Given the description of an element on the screen output the (x, y) to click on. 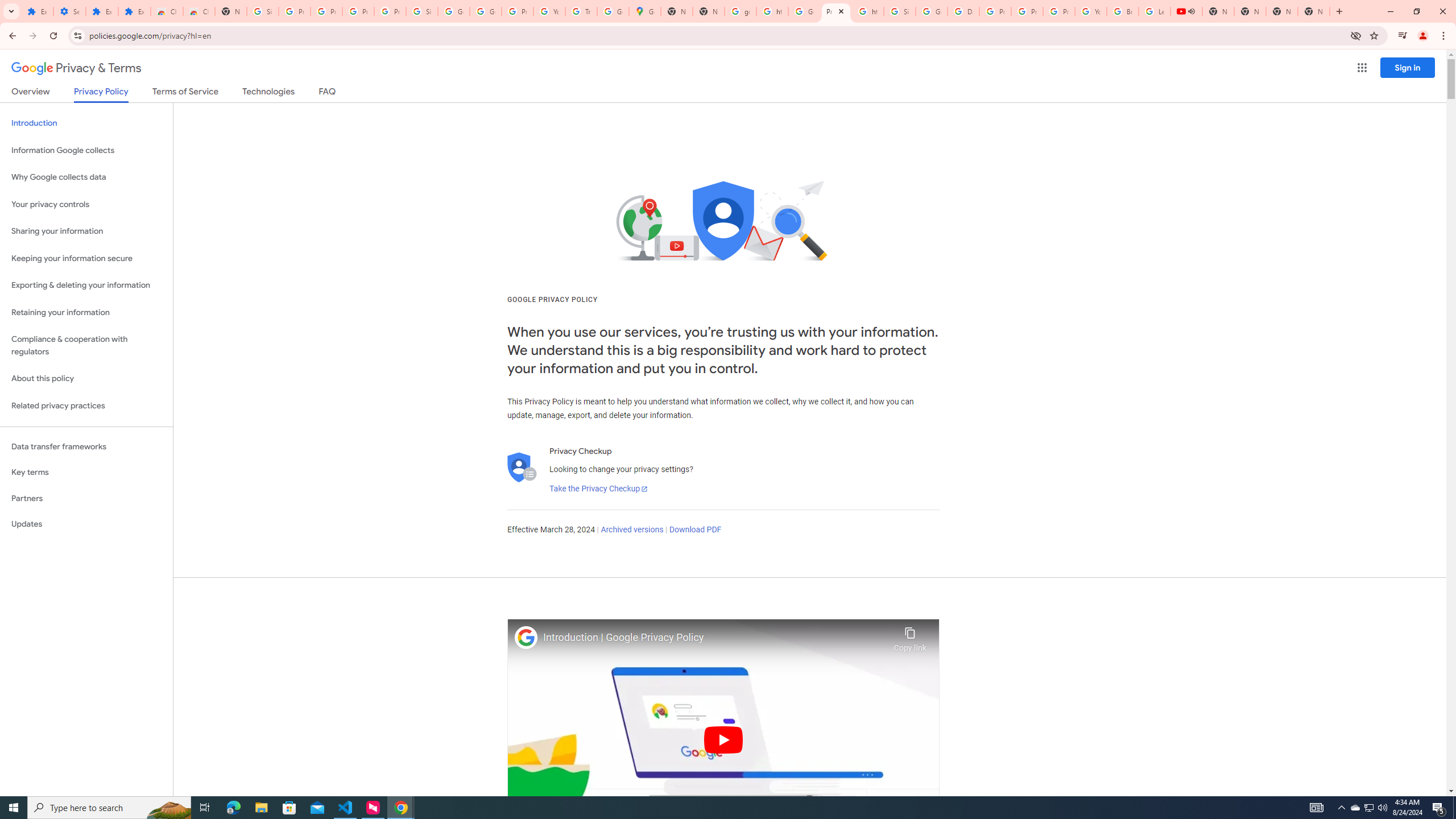
Related privacy practices (86, 405)
Key terms (86, 472)
Privacy Help Center - Policies Help (1027, 11)
Data transfer frameworks (86, 446)
Sign in - Google Accounts (262, 11)
Keeping your information secure (86, 258)
About this policy (86, 379)
